Given the description of an element on the screen output the (x, y) to click on. 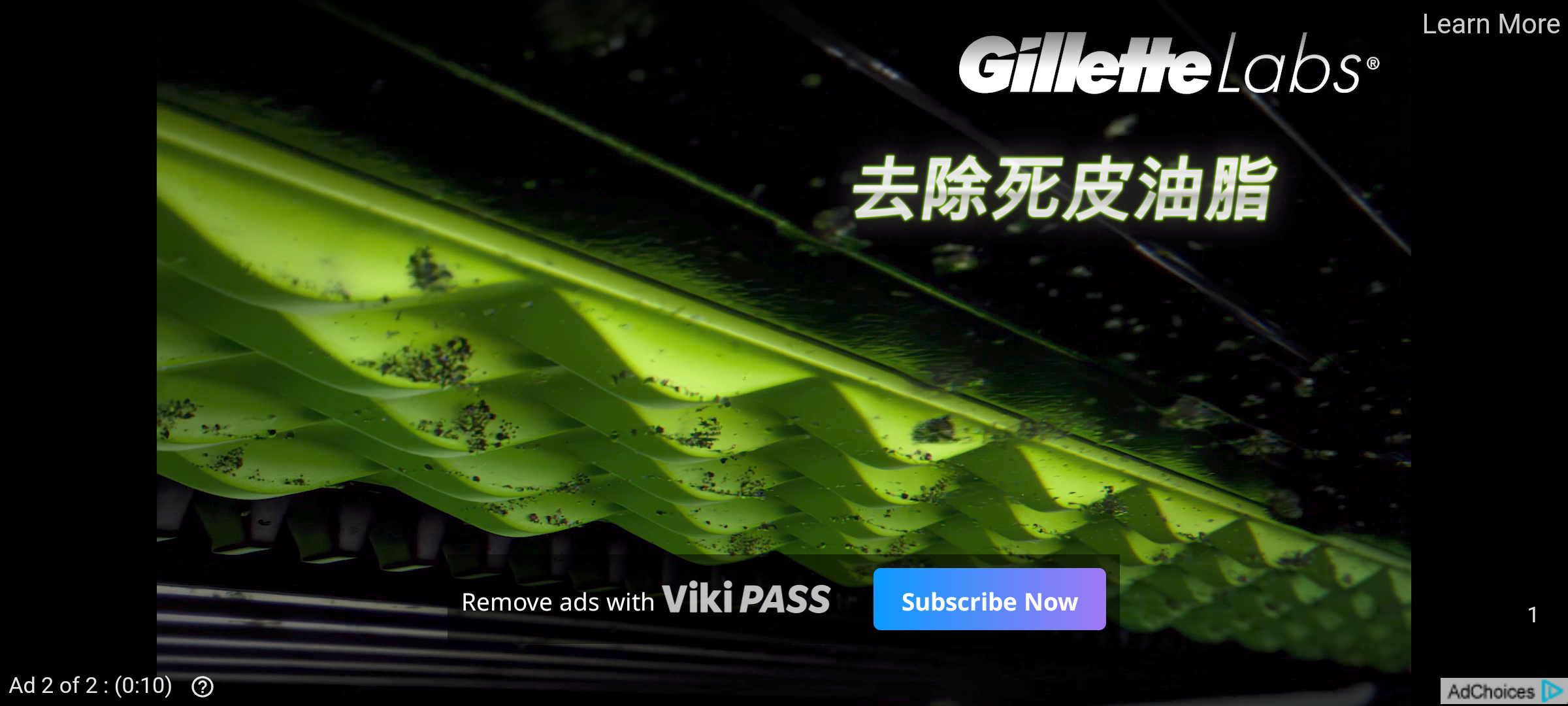
Learn More (1490, 24)
Subscribe Now (989, 599)
Skip Ad Countdown (1531, 615)
Ad 2 of 2 : (0:11) Why This Ad? (116, 684)
Why This Ad? (197, 685)
get?name=admarker-full-tl (1504, 690)
